Given the description of an element on the screen output the (x, y) to click on. 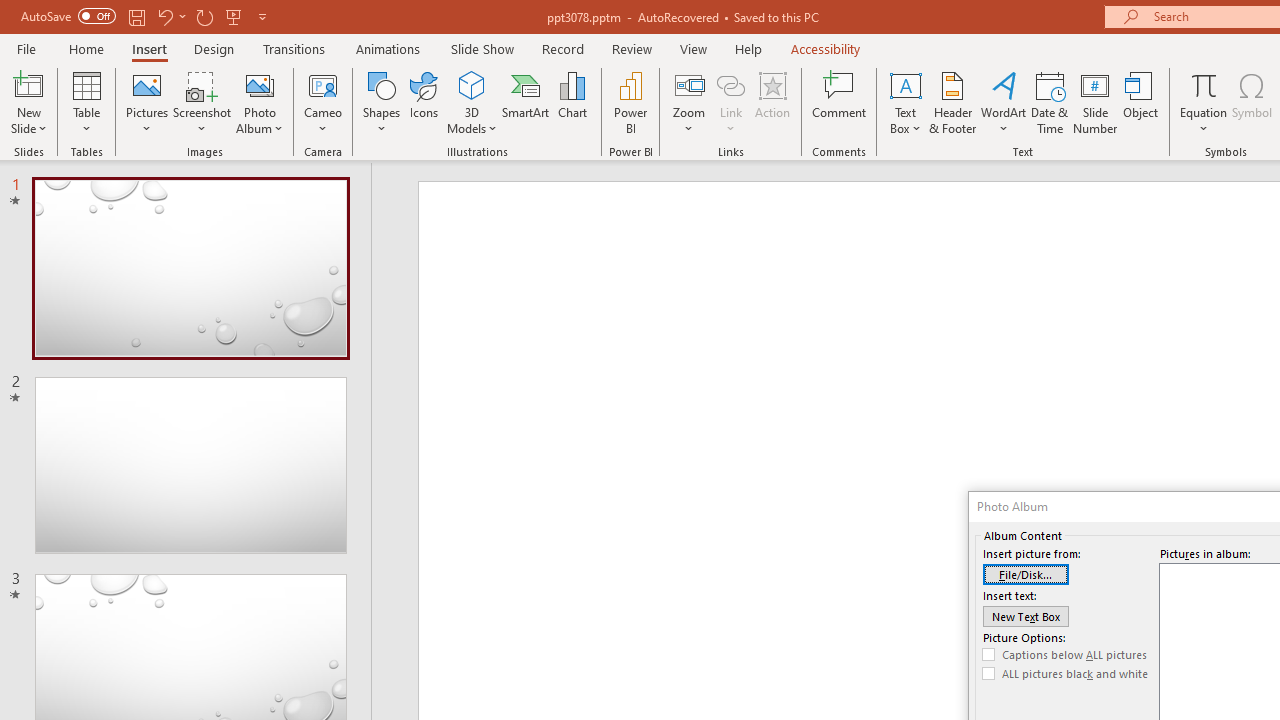
Photo Album... (259, 102)
Icons (424, 102)
New Photo Album... (259, 84)
SmartArt... (525, 102)
Table (86, 102)
New Text Box (1025, 615)
